Given the description of an element on the screen output the (x, y) to click on. 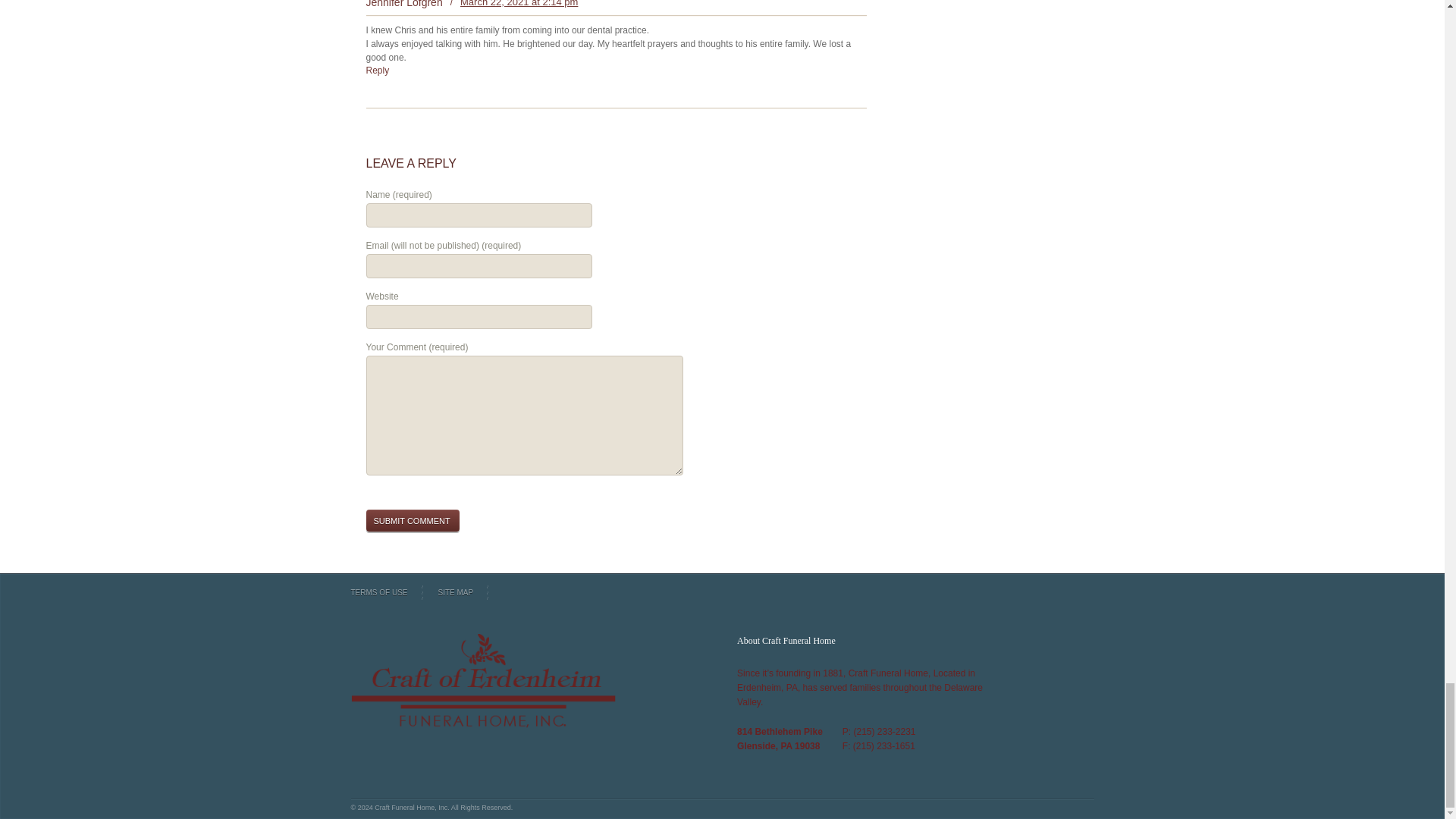
Submit Comment (411, 520)
